Given the description of an element on the screen output the (x, y) to click on. 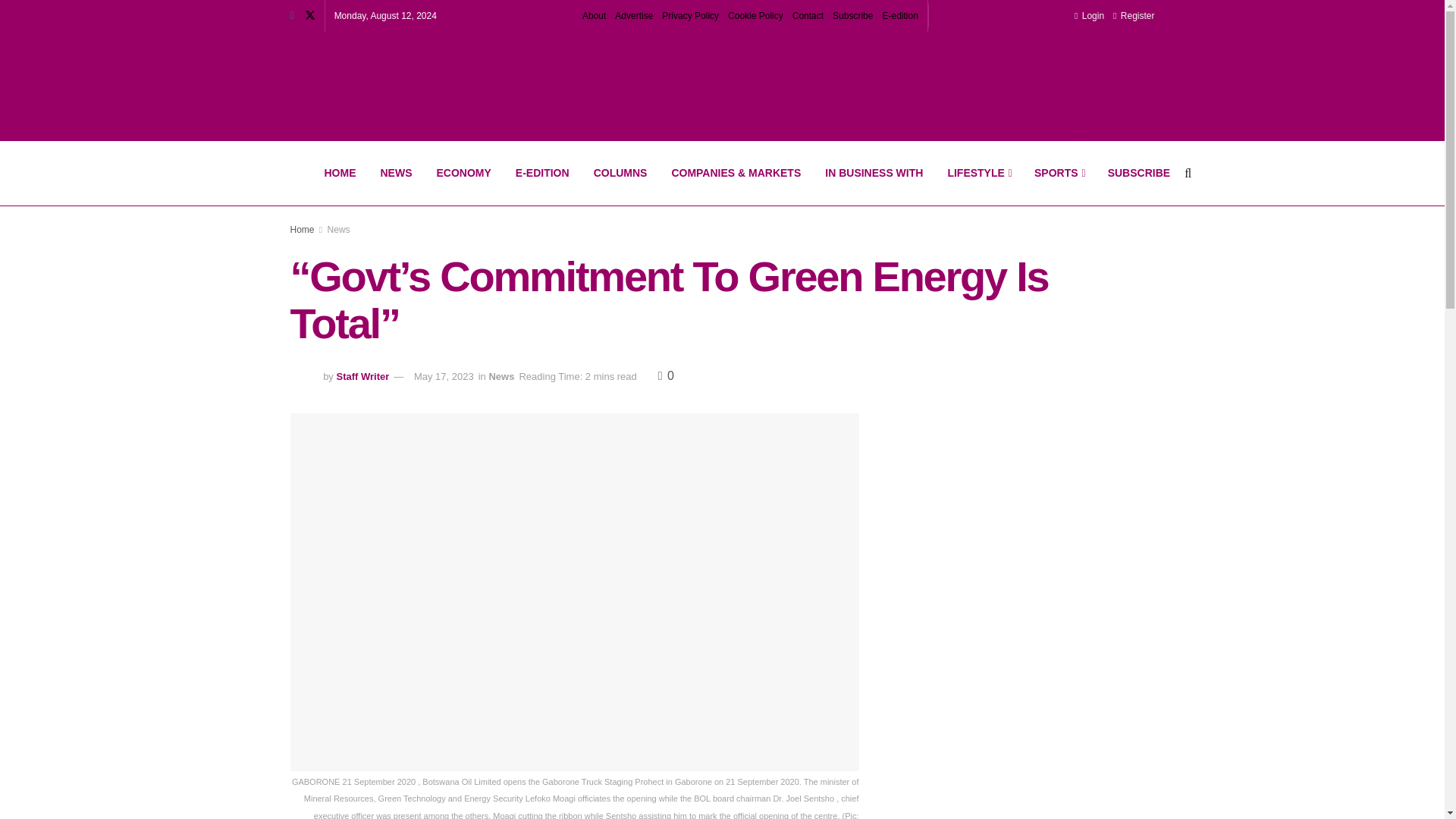
SUBSCRIBE (1139, 172)
Advertise (633, 15)
Privacy Policy (690, 15)
Subscribe (852, 15)
Cookie Policy (755, 15)
SPORTS (1059, 172)
E-edition (899, 15)
E-EDITION (541, 172)
Contact (808, 15)
Register (1133, 15)
